Given the description of an element on the screen output the (x, y) to click on. 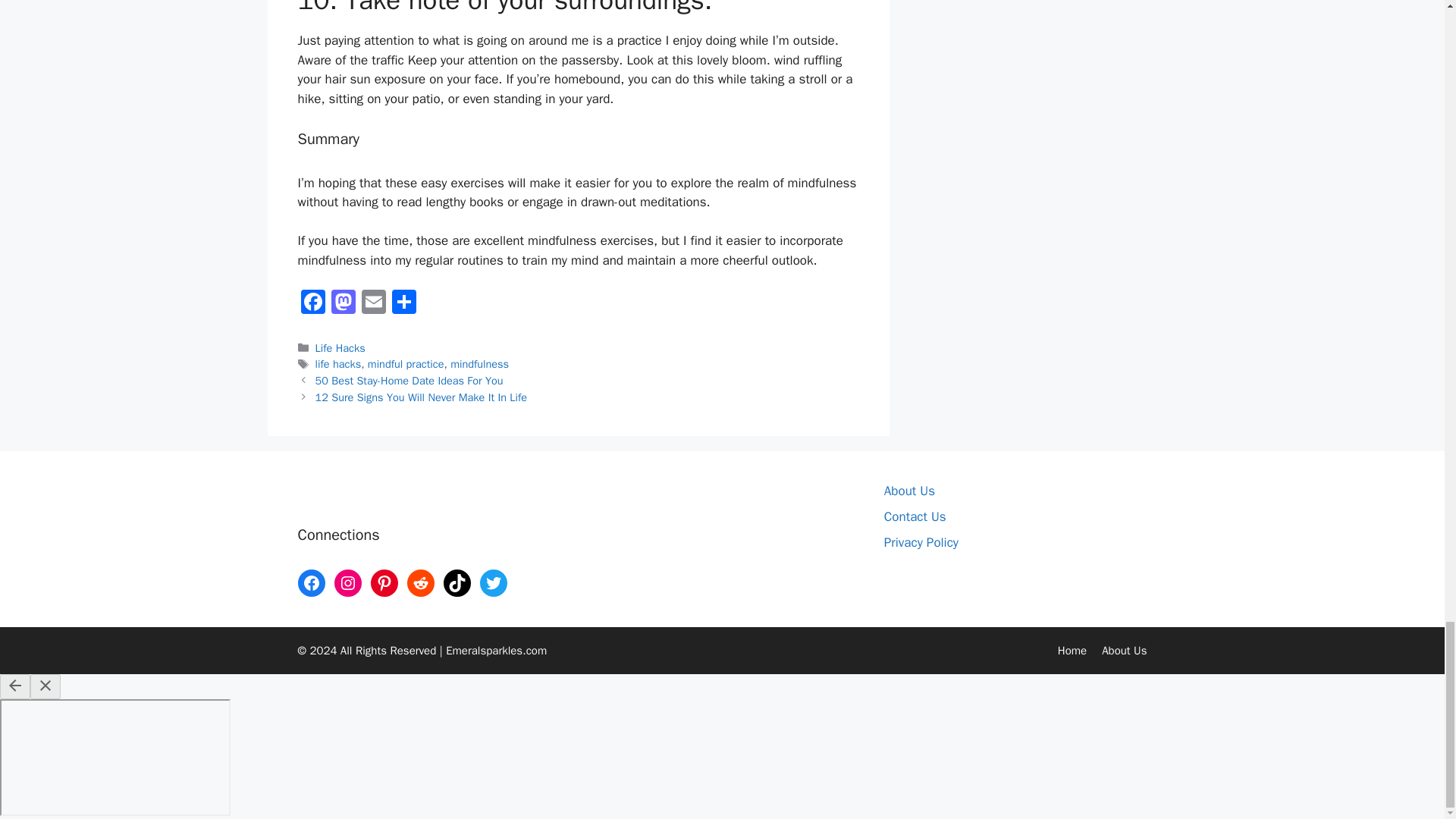
Email (373, 303)
12 Sure Signs You Will Never Make It In Life (421, 397)
Life Hacks (340, 347)
life hacks (338, 364)
mindful practice (406, 364)
Mastodon (342, 303)
50 Best Stay-Home Date Ideas For You (409, 380)
Mastodon (342, 303)
mindfulness (478, 364)
Facebook (312, 303)
Facebook (312, 303)
Email (373, 303)
